Given the description of an element on the screen output the (x, y) to click on. 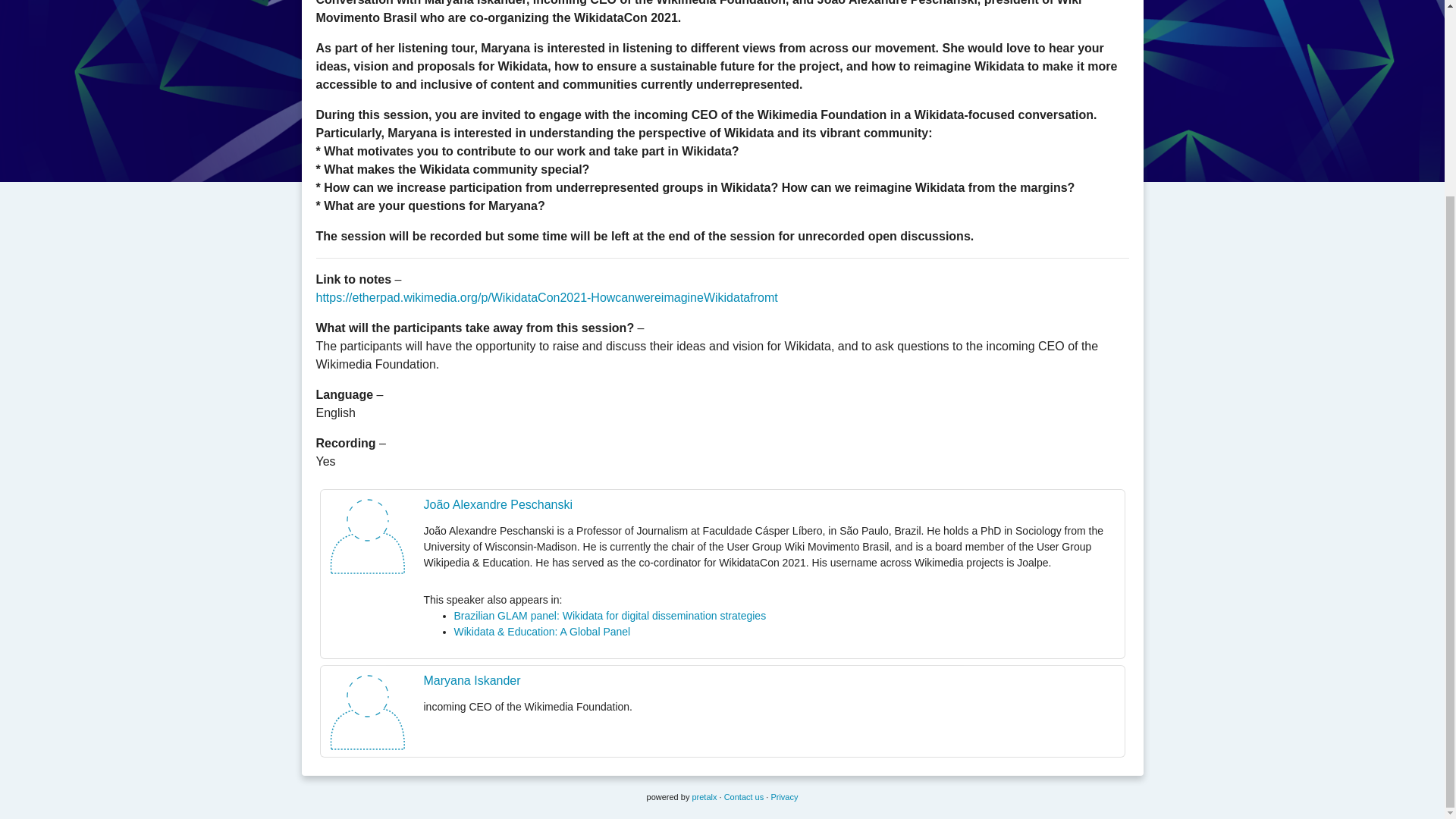
pretalx (703, 796)
Privacy (783, 796)
Maryana Iskander (471, 680)
Contact us (743, 796)
